Given the description of an element on the screen output the (x, y) to click on. 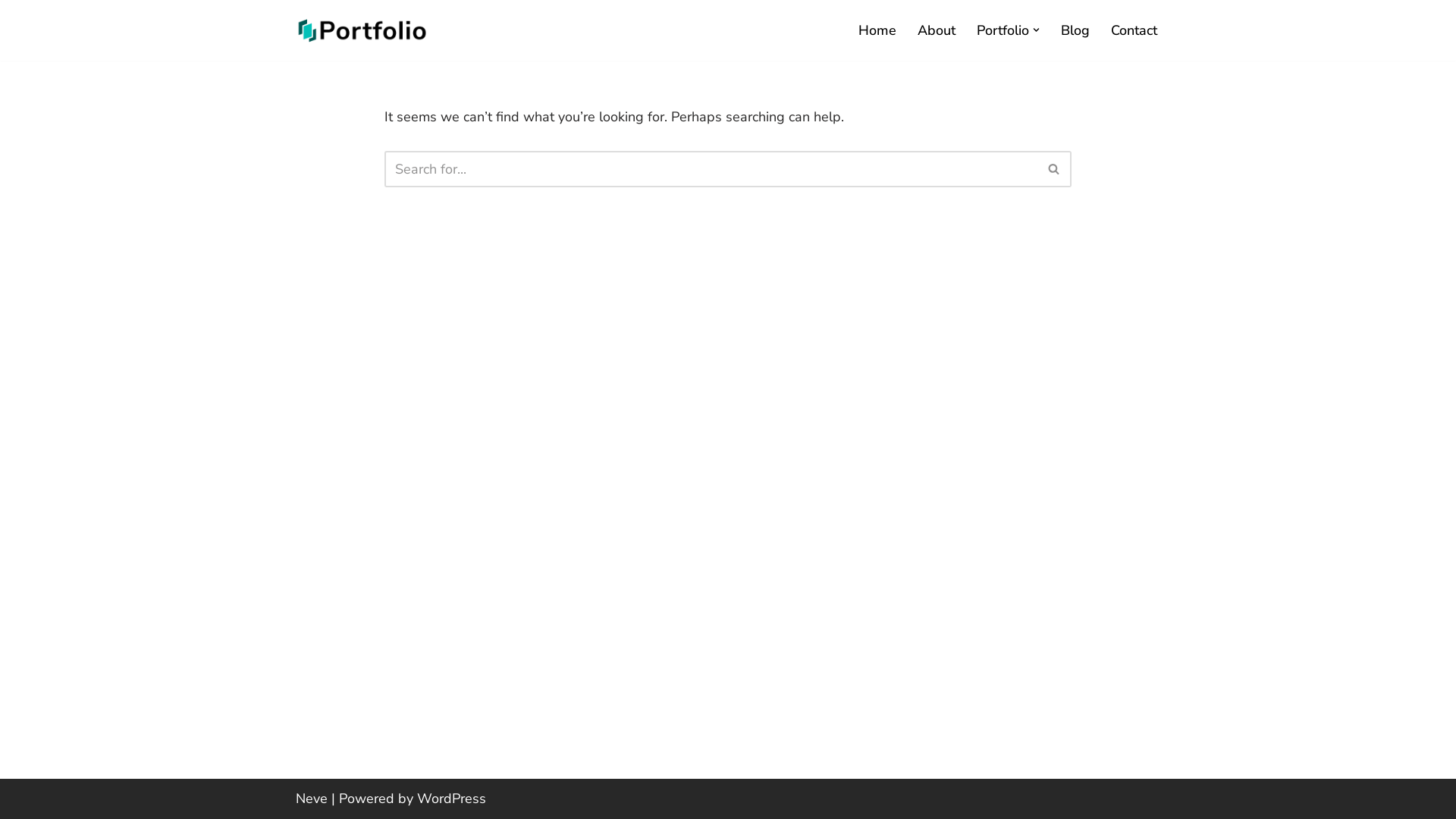
Home Element type: text (877, 29)
WordPress Element type: text (451, 798)
Contact Element type: text (1133, 29)
Skip to content Element type: text (11, 31)
Blog Element type: text (1074, 29)
Portfolio Element type: text (1002, 29)
About Element type: text (936, 29)
Neve Element type: text (311, 798)
